Given the description of an element on the screen output the (x, y) to click on. 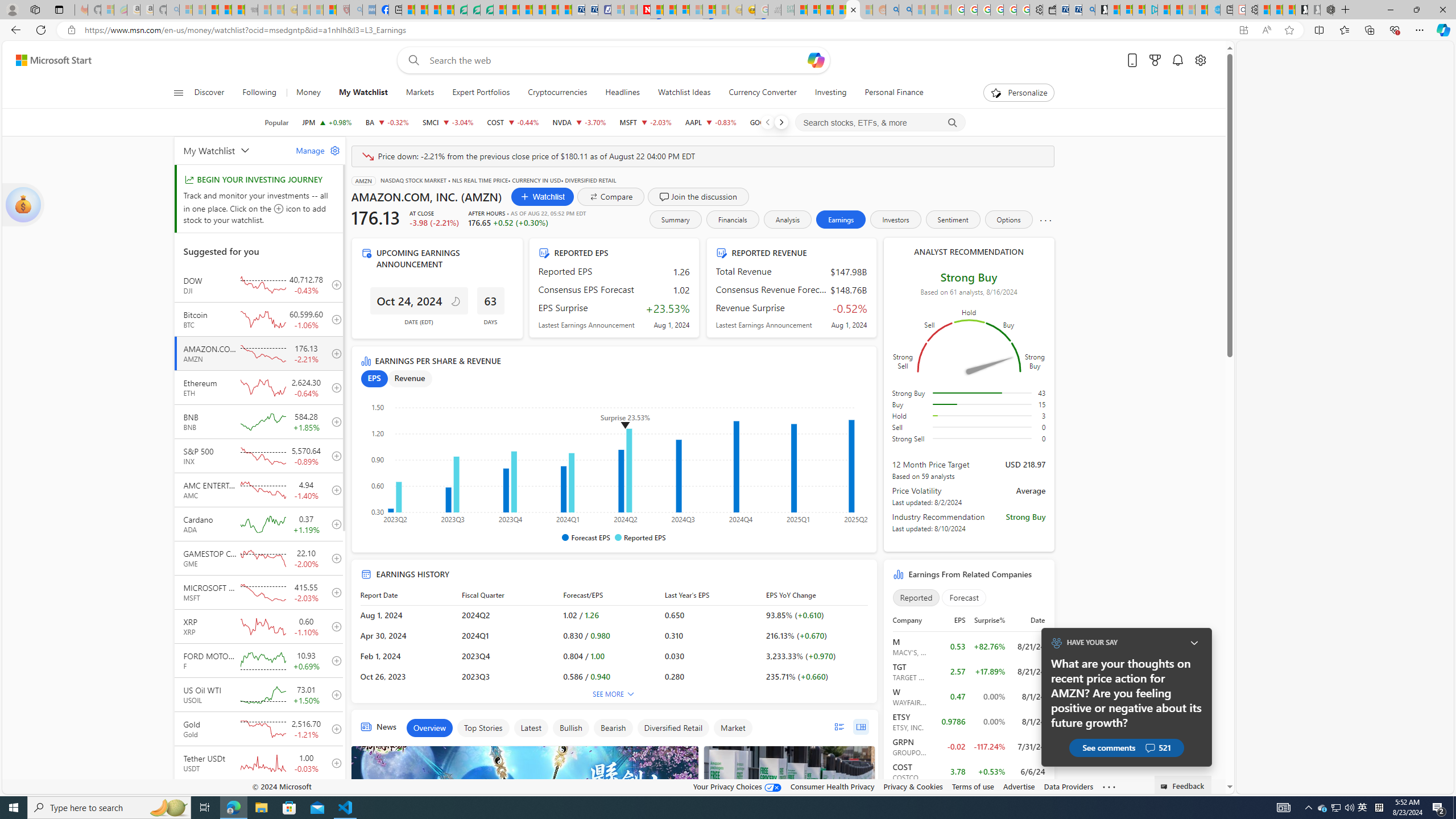
Microsoft account | Privacy - Sleeping (616, 9)
Class: recharts-surface (614, 459)
Compare (610, 196)
Microsoft Word - consumer-privacy address update 2.2021 (486, 9)
add to your watchlist (333, 797)
DITOGAMES AG Imprint - Sleeping (787, 9)
